Given the description of an element on the screen output the (x, y) to click on. 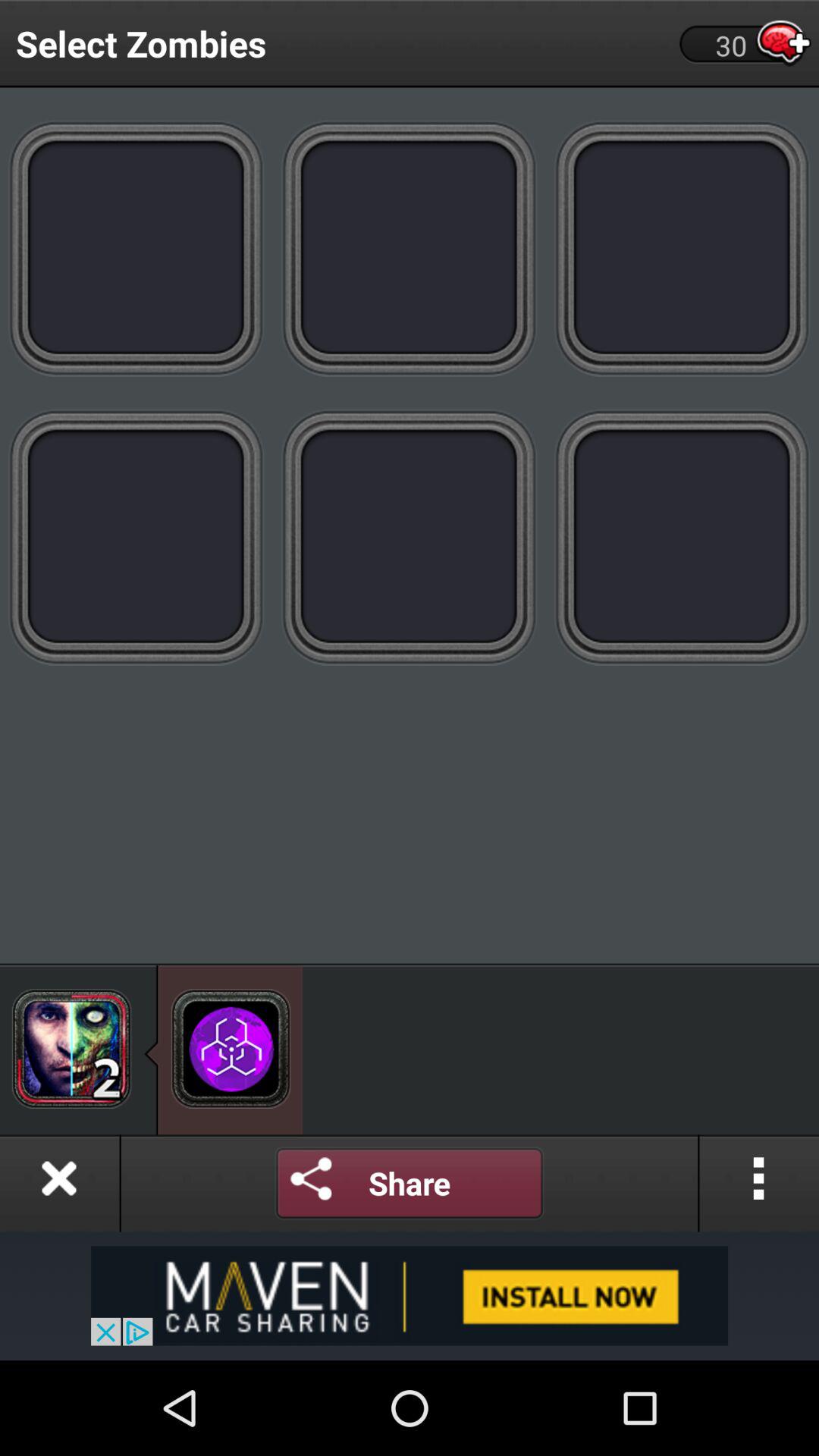
select character (682, 247)
